Given the description of an element on the screen output the (x, y) to click on. 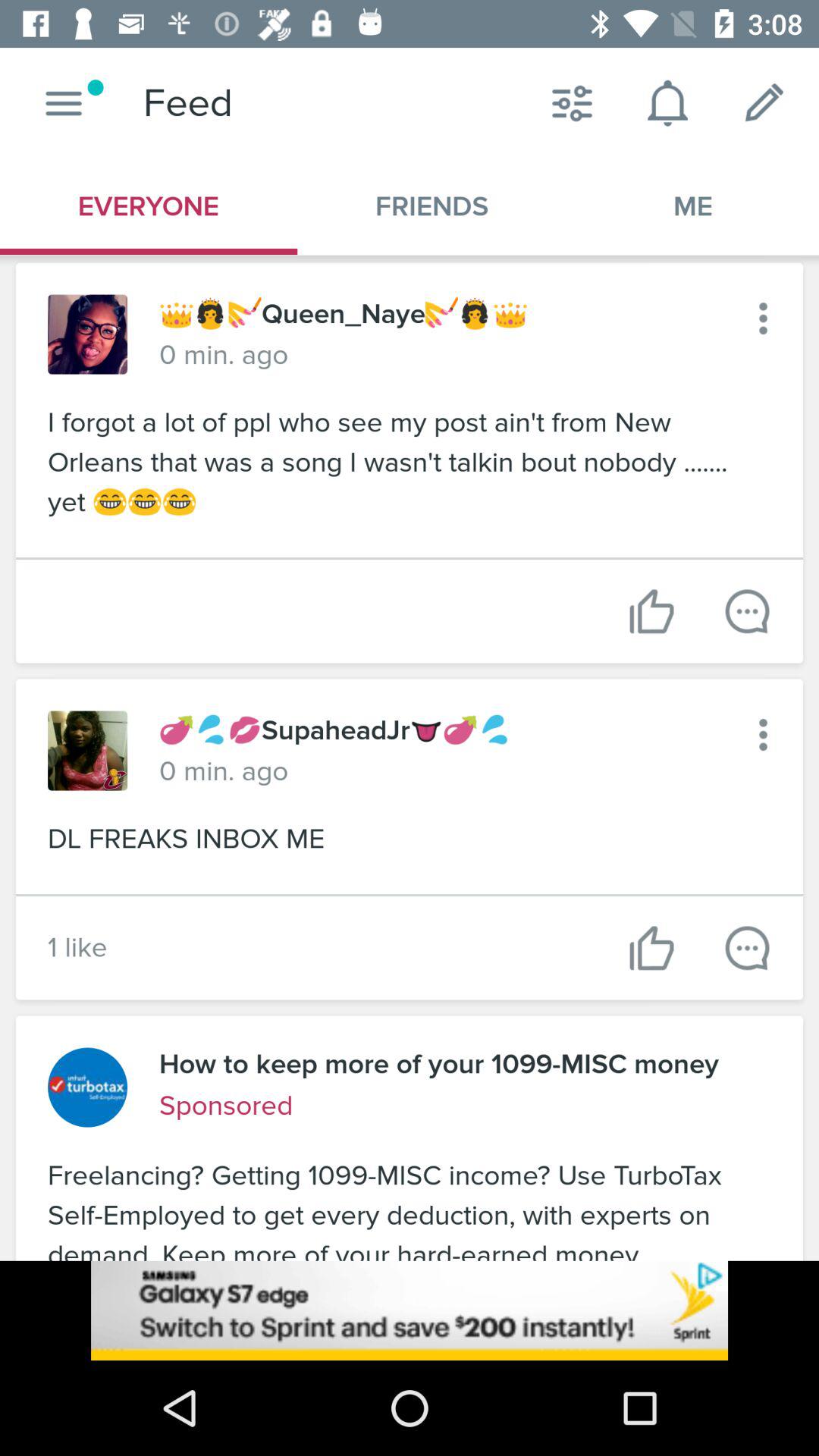
go to like (651, 611)
